Given the description of an element on the screen output the (x, y) to click on. 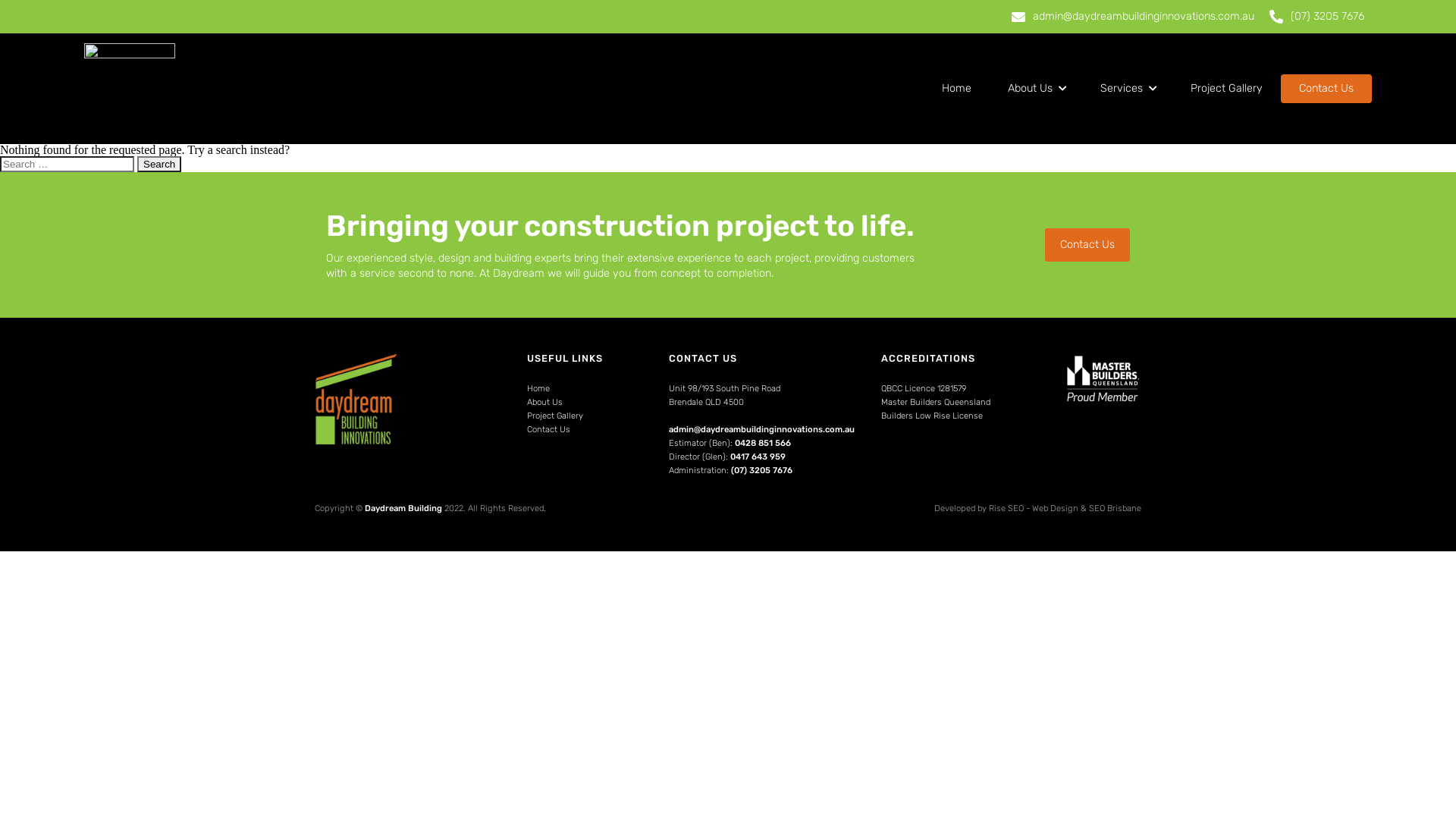
Search Element type: text (159, 164)
admin@daydreambuildinginnovations.com.au Element type: text (1132, 16)
Home Element type: text (956, 88)
Home Element type: text (538, 388)
About Us Element type: text (1035, 88)
(07) 3205 7676 Element type: text (1316, 16)
Project Gallery Element type: text (555, 416)
0417 643 959 Element type: text (757, 456)
Project Gallery Element type: text (1226, 88)
admin@daydreambuildinginnovations.com.au Element type: text (761, 429)
Contact Us Element type: text (1086, 244)
(07) 3205 7676 Element type: text (761, 470)
About Us Element type: text (544, 402)
Contact Us Element type: text (1325, 88)
0428 851 566 Element type: text (762, 443)
Contact Us Element type: text (548, 429)
Services Element type: text (1127, 88)
